Given the description of an element on the screen output the (x, y) to click on. 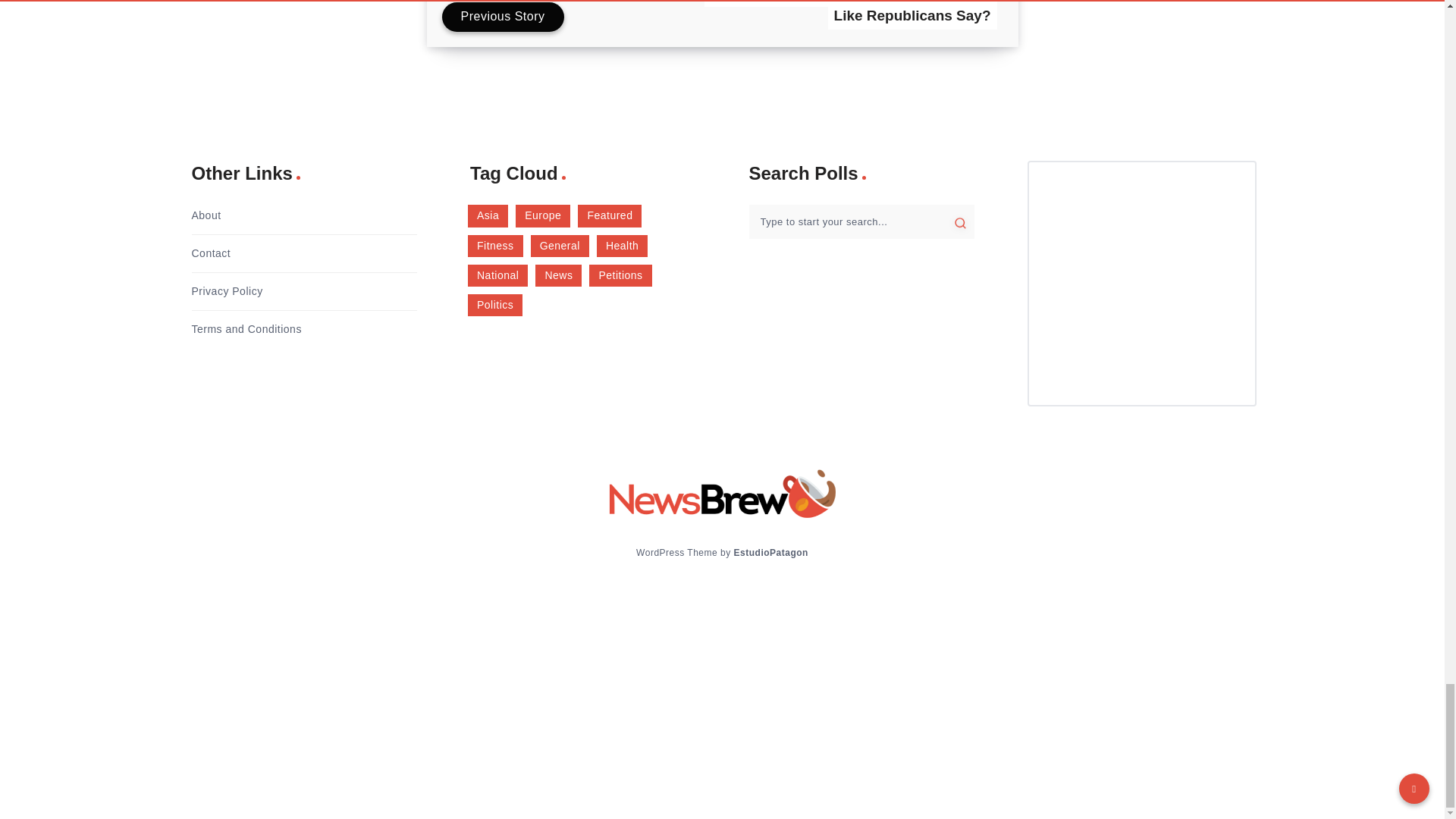
Powered with Veen (770, 552)
